Given the description of an element on the screen output the (x, y) to click on. 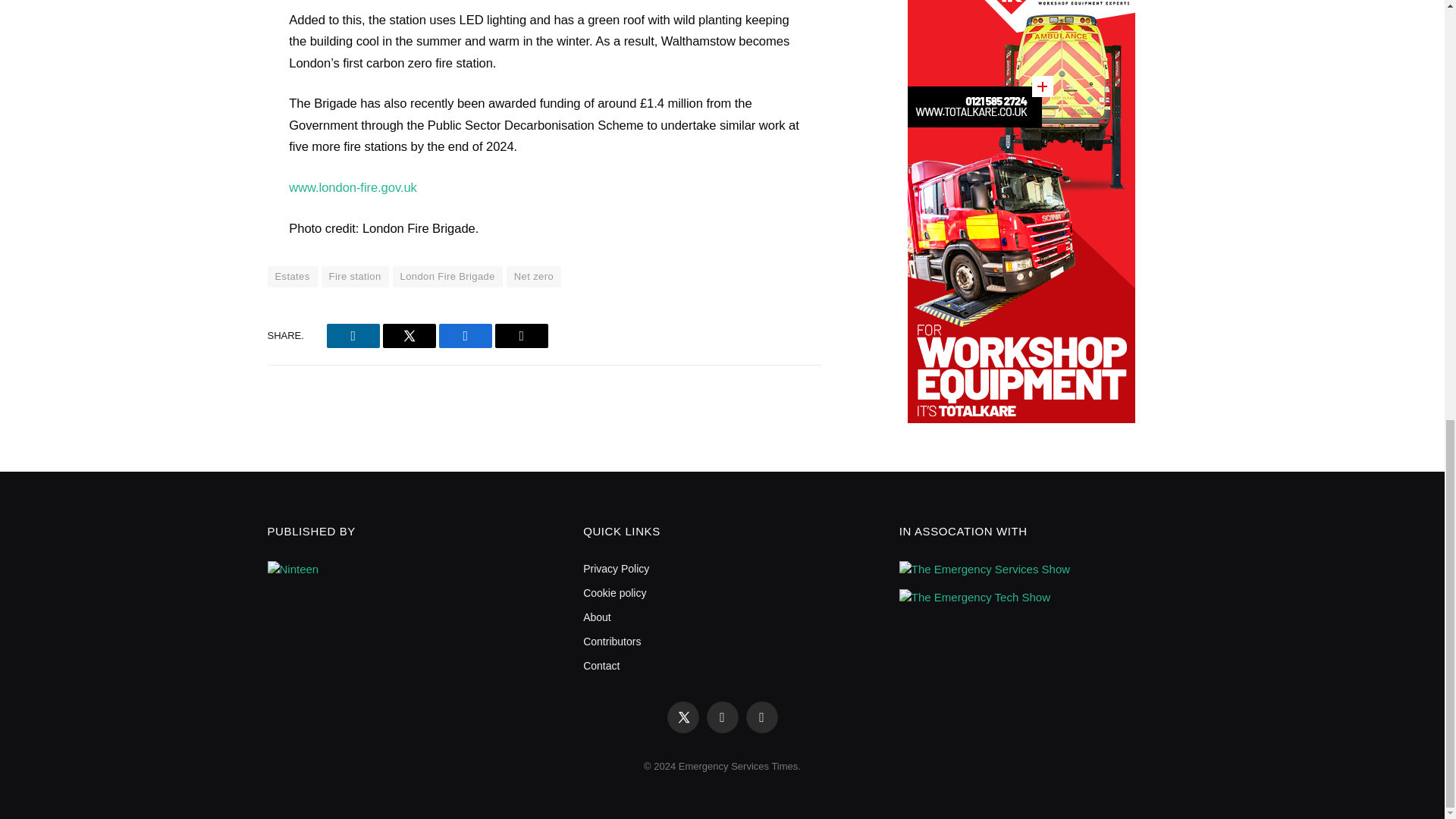
Share on Facebook (465, 335)
Share on LinkedIn (353, 335)
Share via Email (521, 335)
